Given the description of an element on the screen output the (x, y) to click on. 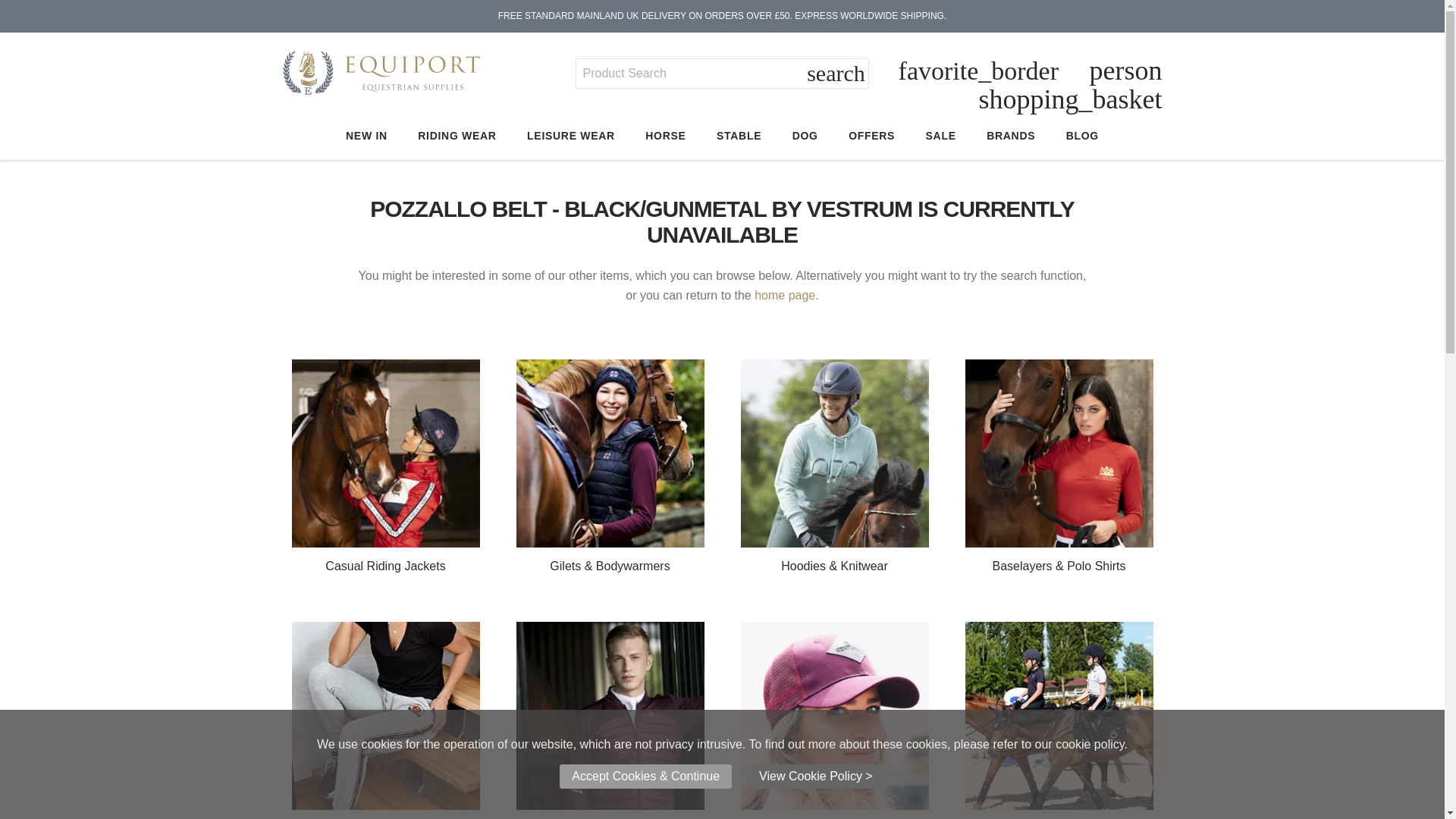
Brands (1011, 136)
LEISURE WEAR (570, 136)
search (835, 74)
NEW IN (366, 136)
person (1125, 70)
RIDING WEAR (456, 136)
New In (366, 136)
